Given the description of an element on the screen output the (x, y) to click on. 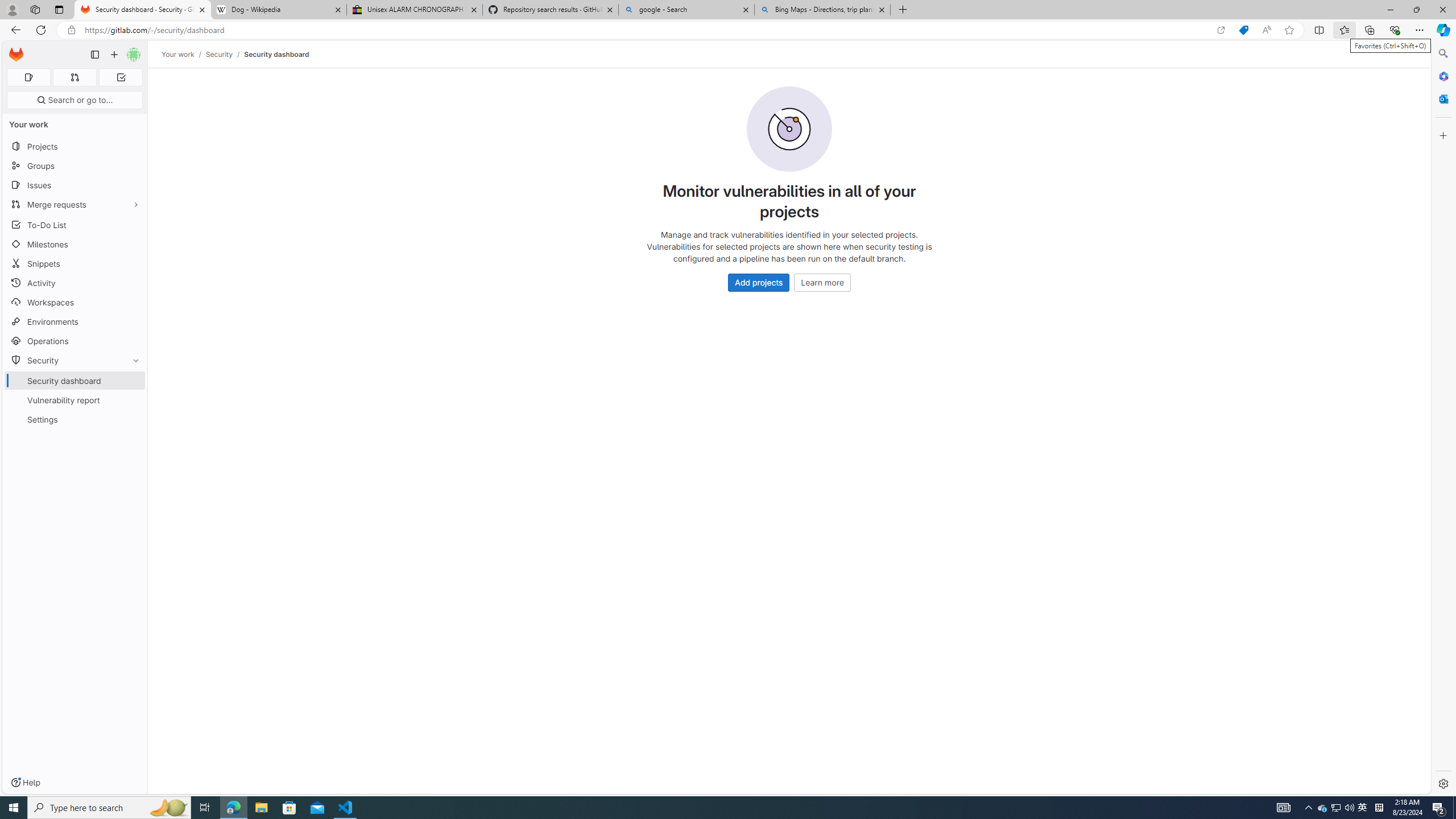
Merge requests (74, 203)
Operations (74, 340)
Environments (74, 321)
